Given the description of an element on the screen output the (x, y) to click on. 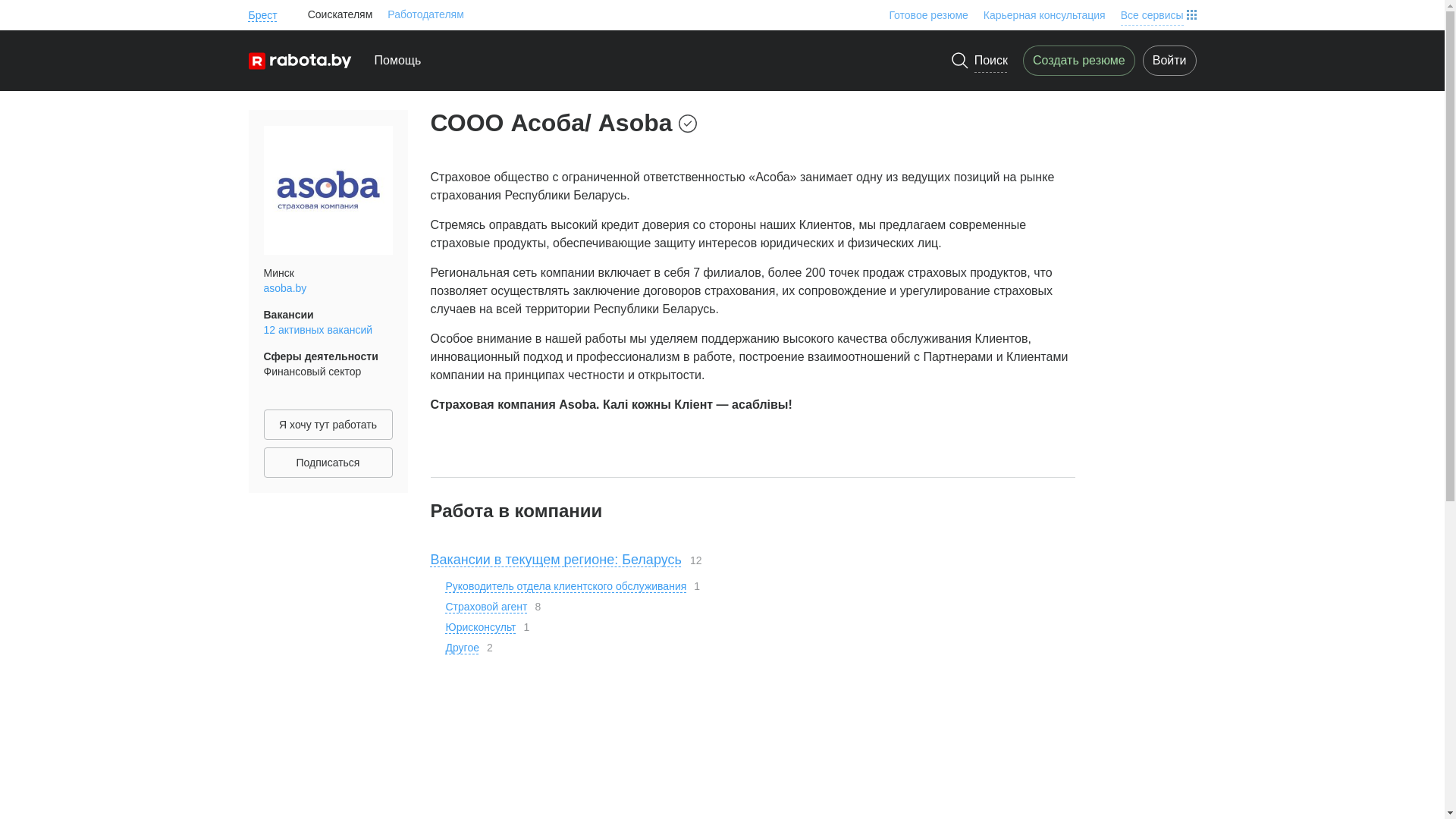
asoba.by Element type: text (285, 288)
